Given the description of an element on the screen output the (x, y) to click on. 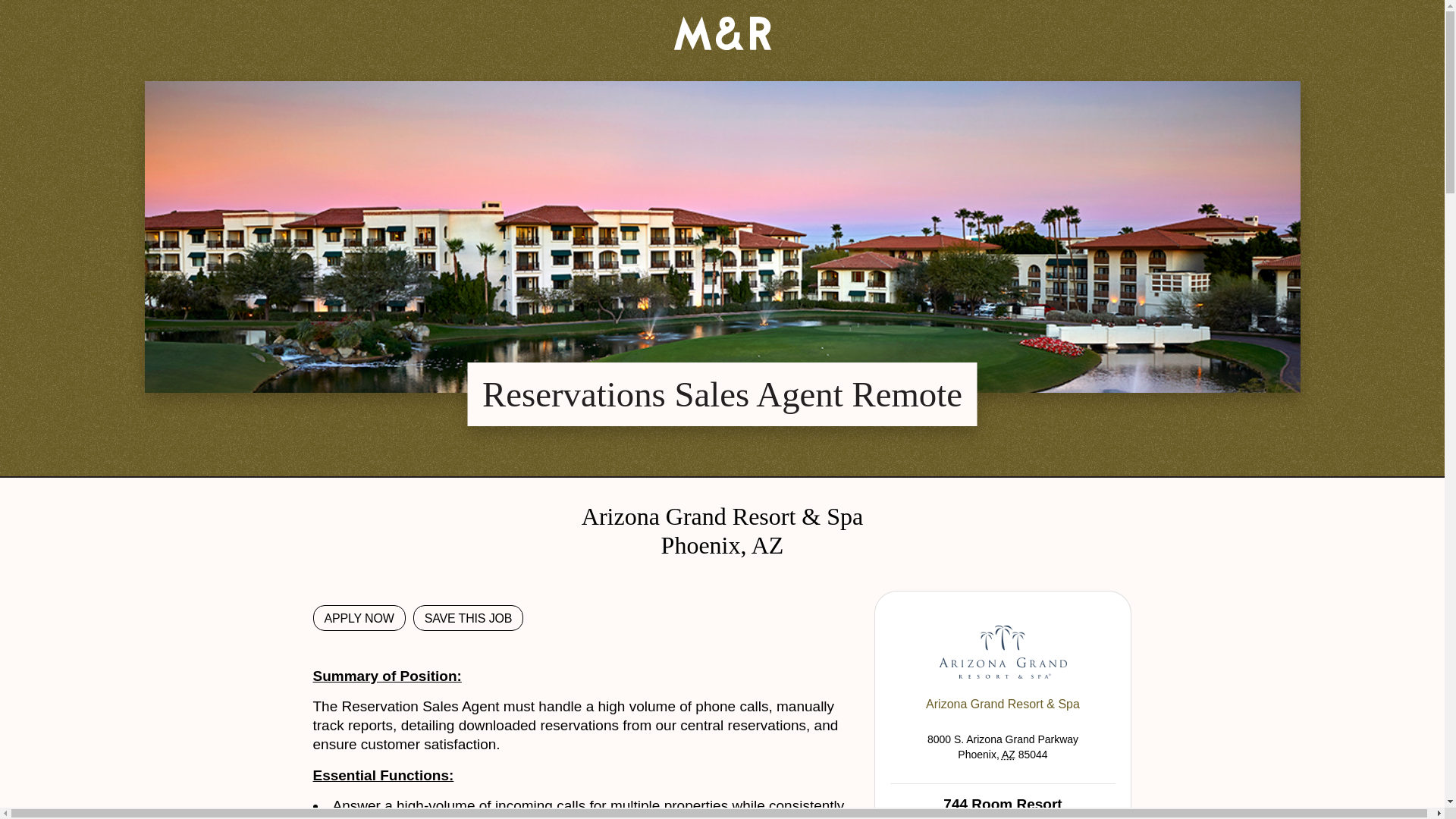
Arizona (1007, 754)
APPLY NOW (358, 617)
SAVE THIS JOB (468, 617)
